Given the description of an element on the screen output the (x, y) to click on. 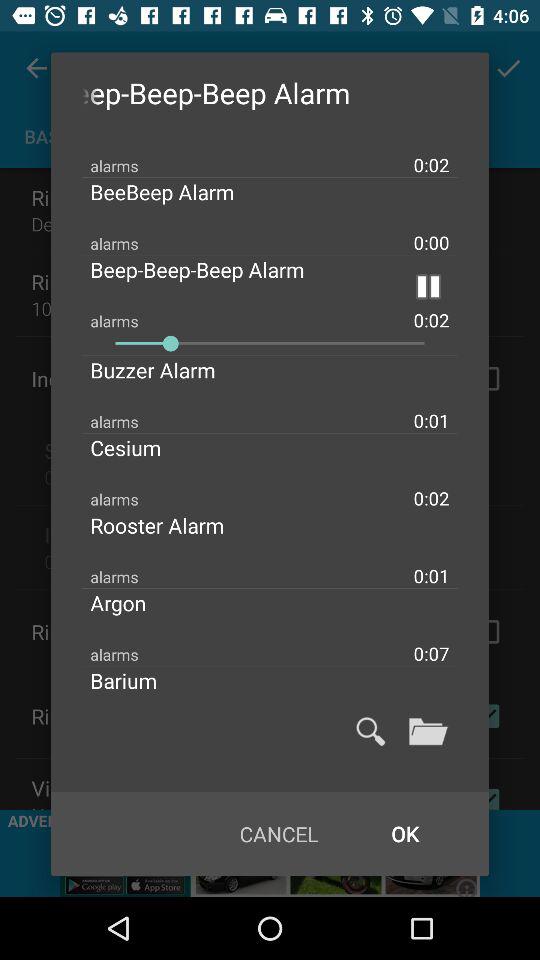
tap icon below 0:02 (173, 525)
